Given the description of an element on the screen output the (x, y) to click on. 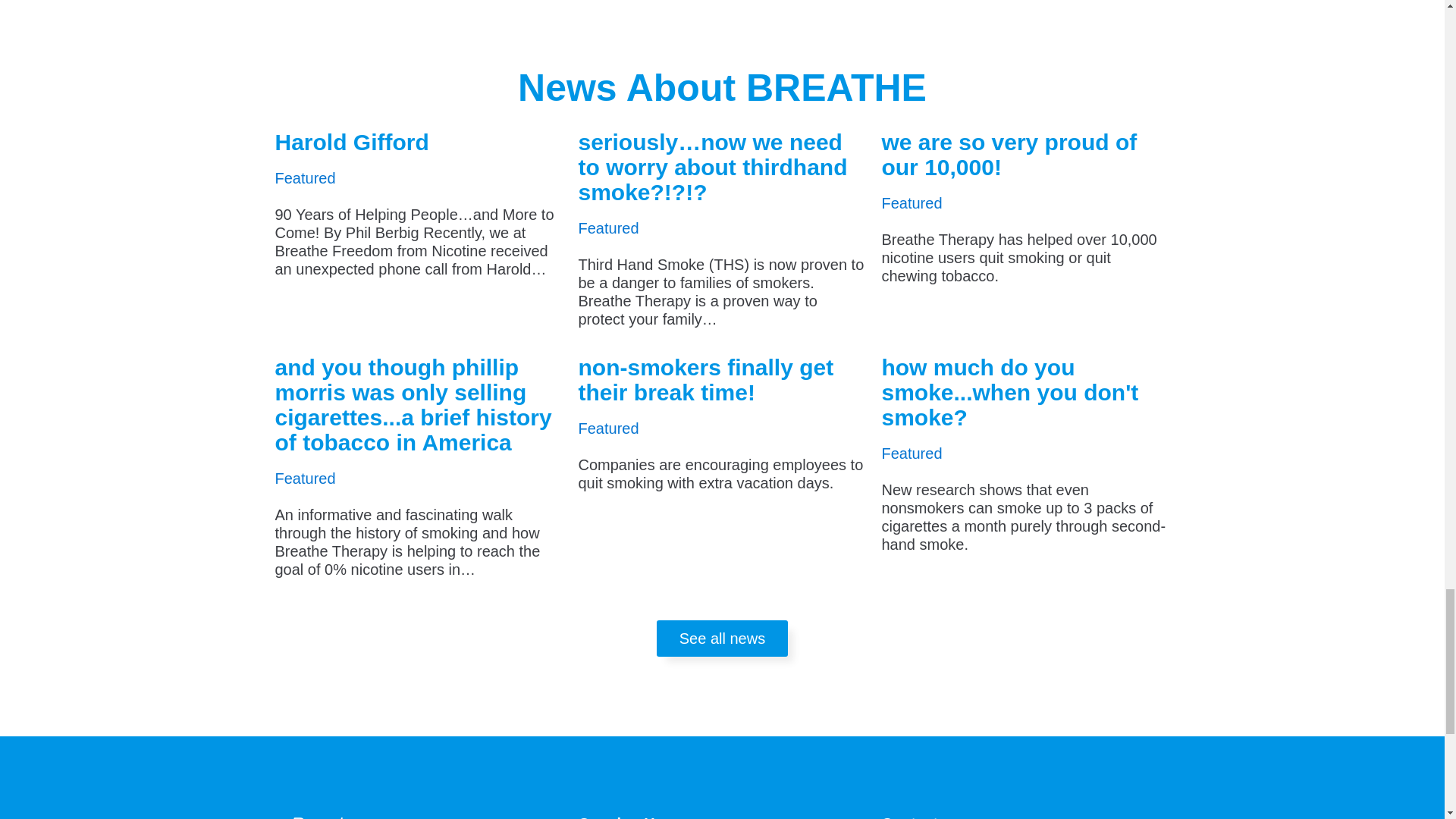
Featured (608, 228)
Featured (911, 202)
we are so very proud of our 10,000! (1008, 154)
Harold Gifford (351, 141)
Featured (304, 178)
